Given the description of an element on the screen output the (x, y) to click on. 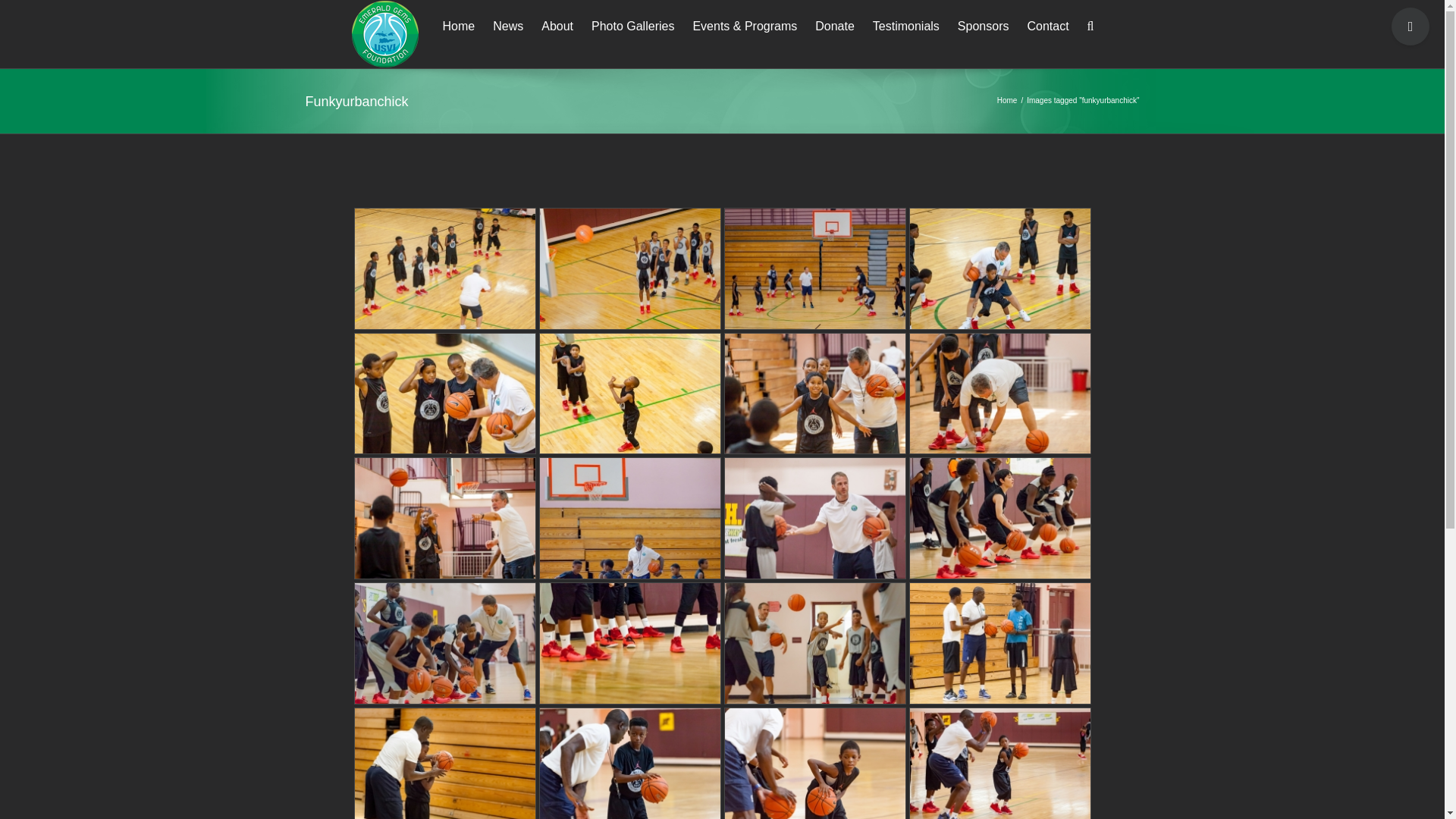
Photo Galleries (632, 25)
Photo Galleries (632, 25)
Testimonials (905, 25)
Testimonials (905, 25)
Sponsors (983, 25)
Emerald Gems Partners, Sponsors and Donors (983, 25)
